Given the description of an element on the screen output the (x, y) to click on. 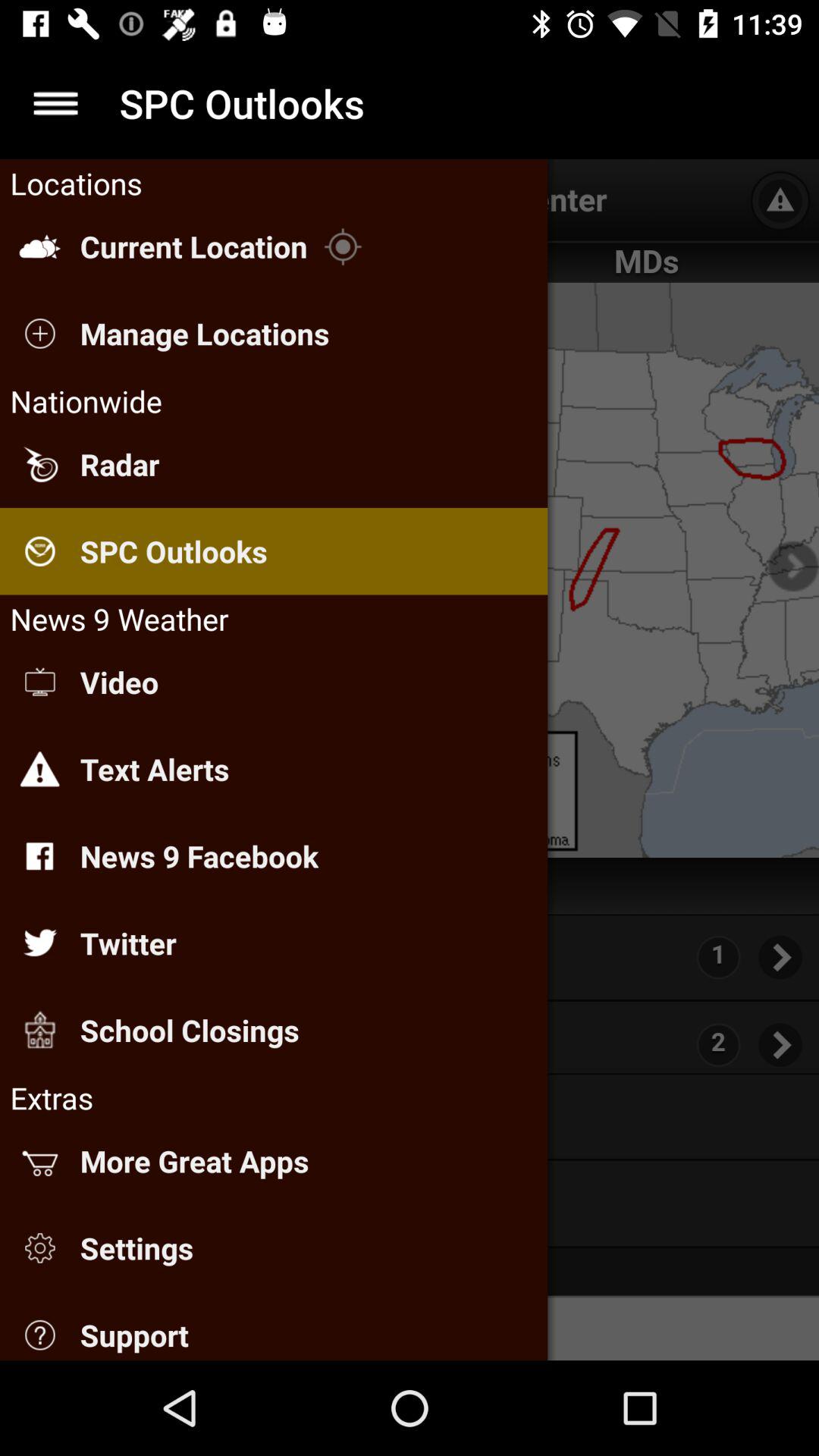
more options (55, 103)
